Given the description of an element on the screen output the (x, y) to click on. 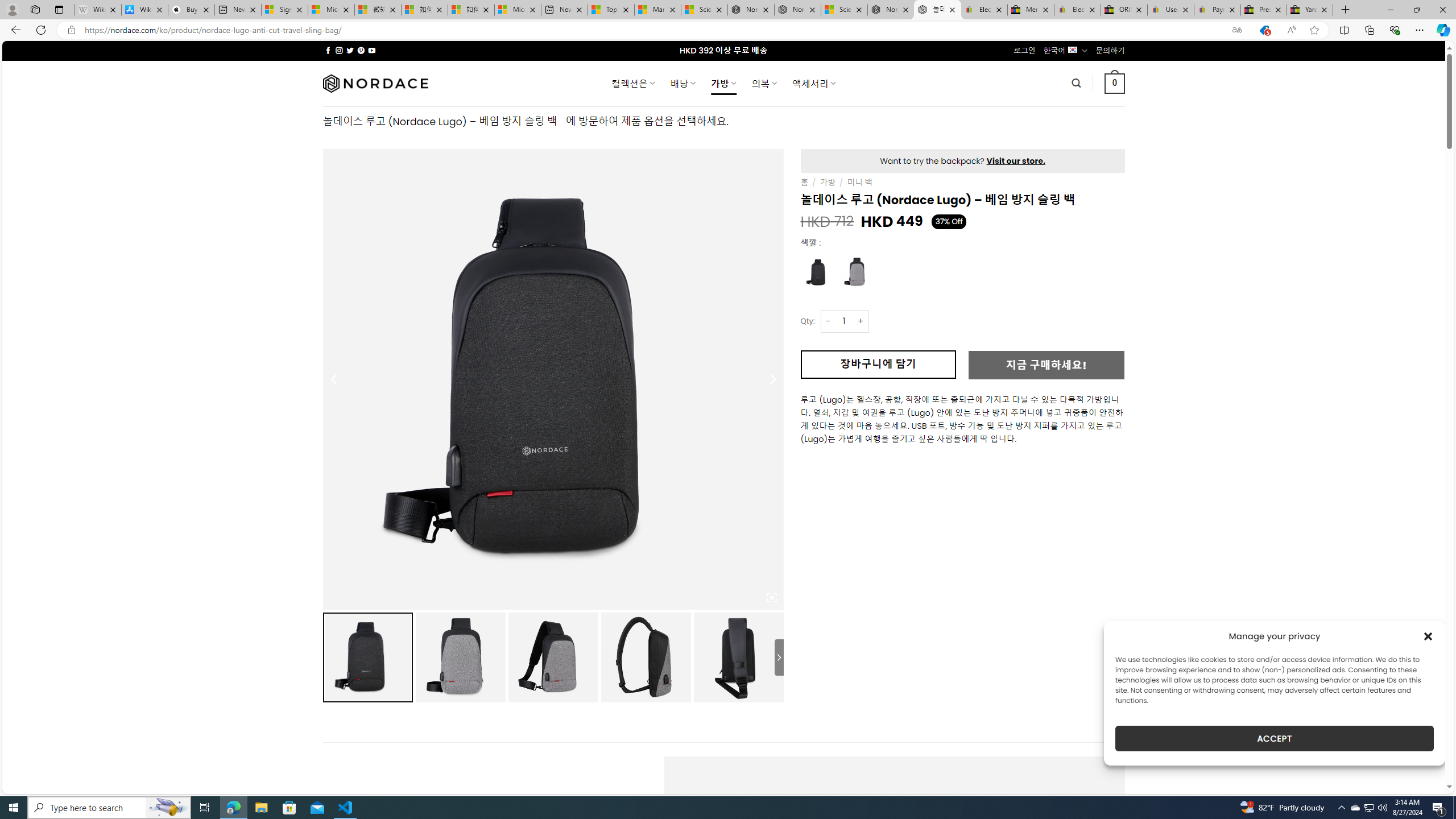
Follow on Facebook (327, 50)
Top Stories - MSN (610, 9)
Press Room - eBay Inc. (1263, 9)
- (827, 320)
Sign in to your Microsoft account (284, 9)
Class: iconic-woothumbs-fullscreen (771, 597)
Wikipedia - Sleeping (97, 9)
Nordace - Summer Adventures 2024 (890, 9)
